Given the description of an element on the screen output the (x, y) to click on. 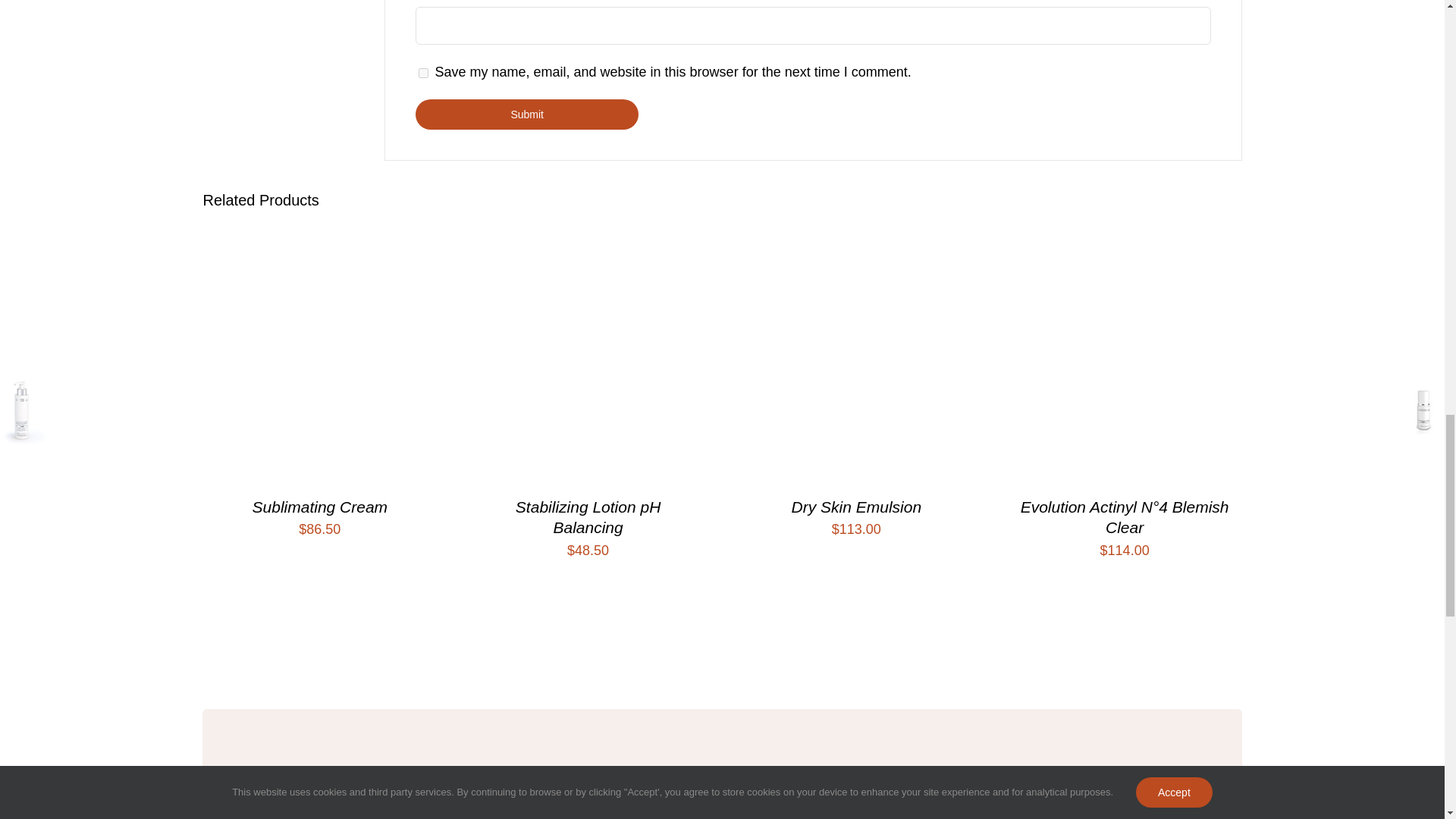
yes (423, 72)
Submit (525, 114)
